Given the description of an element on the screen output the (x, y) to click on. 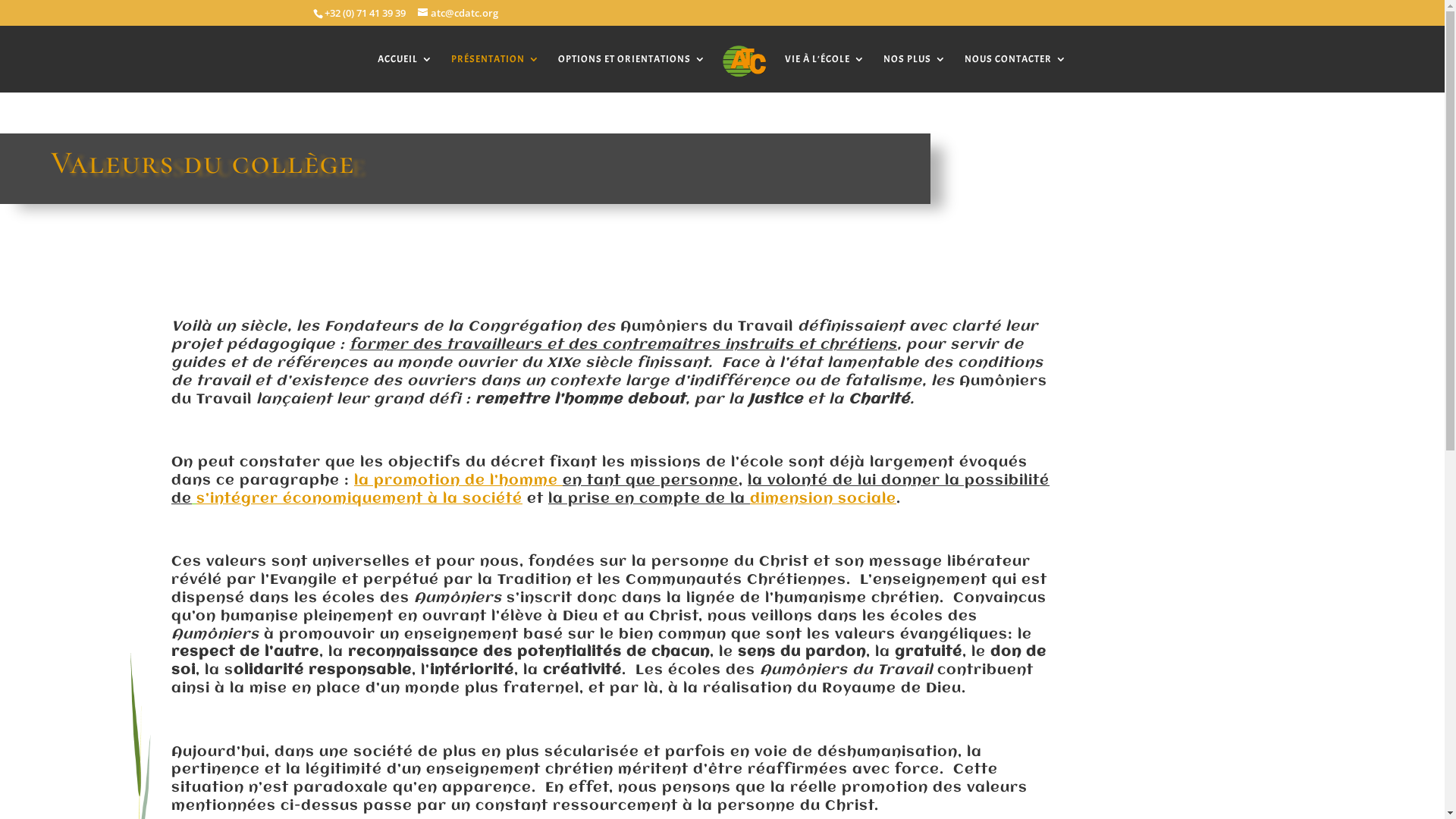
atc@cdatc.org Element type: text (457, 12)
NOUS CONTACTER Element type: text (1015, 72)
ACCUEIL Element type: text (405, 72)
NOS PLUS Element type: text (913, 72)
OPTIONS ET ORIENTATIONS Element type: text (632, 72)
